Given the description of an element on the screen output the (x, y) to click on. 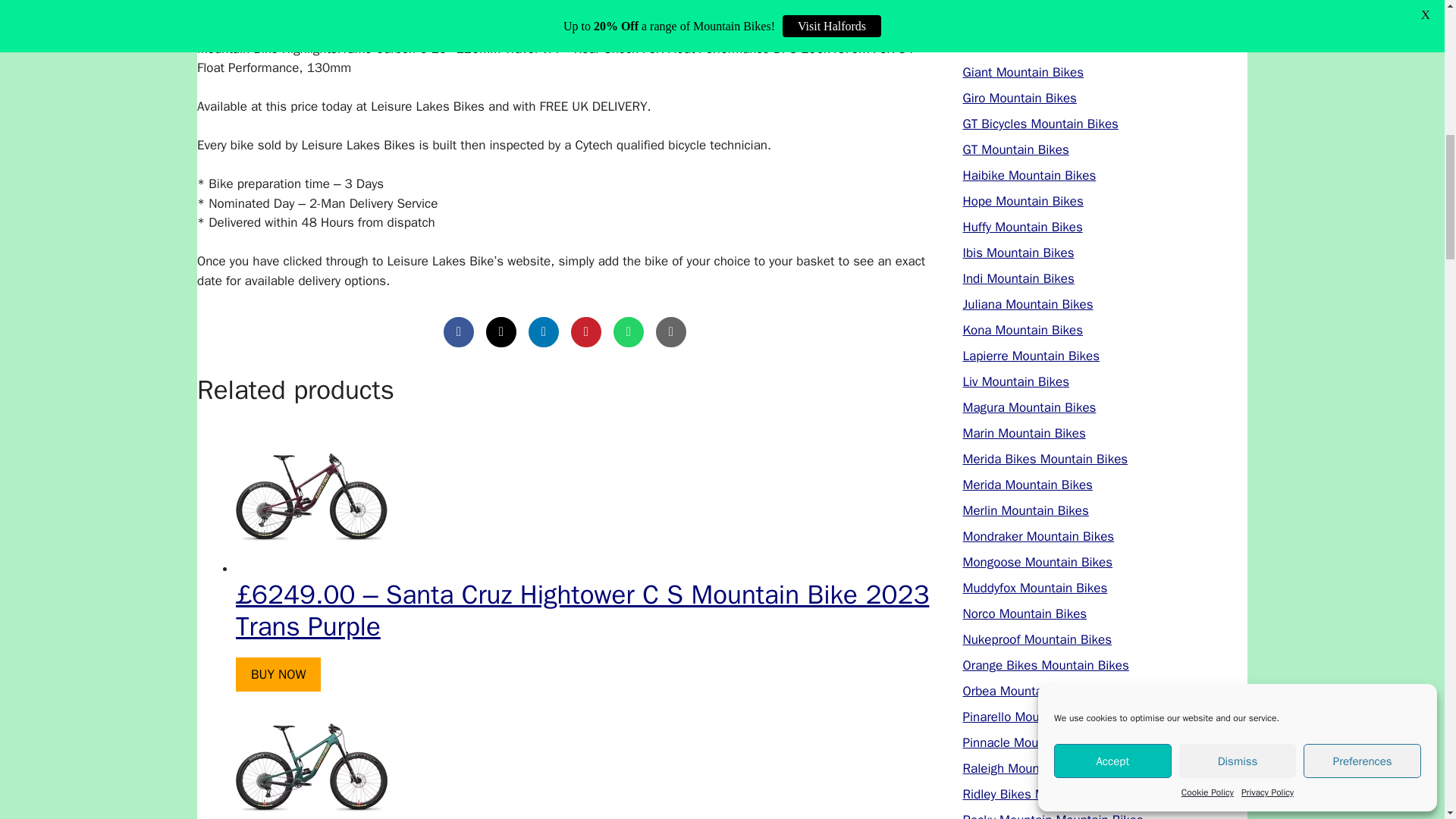
Scroll back to top (1406, 720)
